Given the description of an element on the screen output the (x, y) to click on. 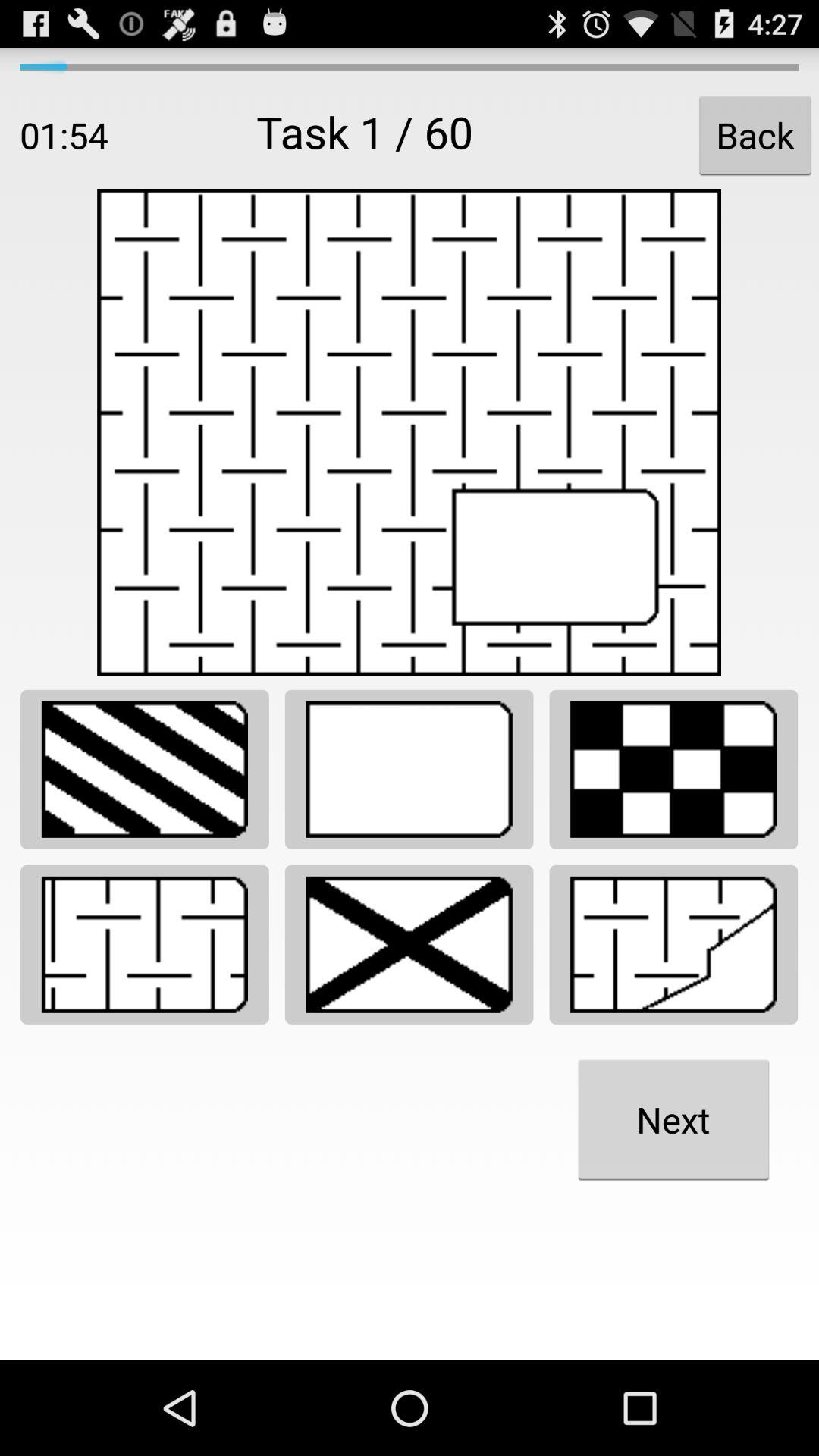
tap the button at the top right corner (755, 135)
